Given the description of an element on the screen output the (x, y) to click on. 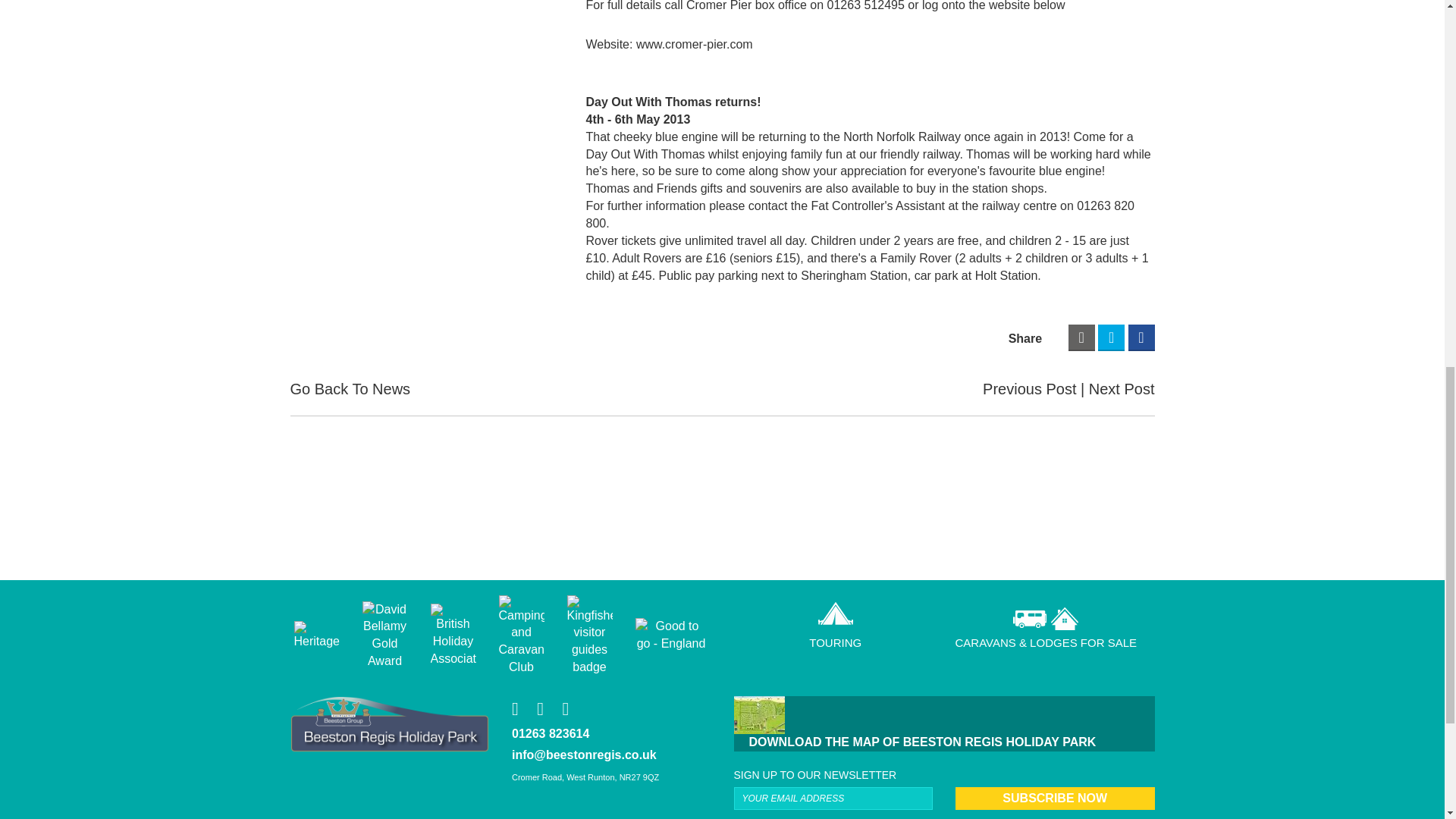
Next Post (1121, 389)
www.cromer-pier.com (694, 43)
Previous Post (1033, 389)
Go Back To News (349, 389)
